Given the description of an element on the screen output the (x, y) to click on. 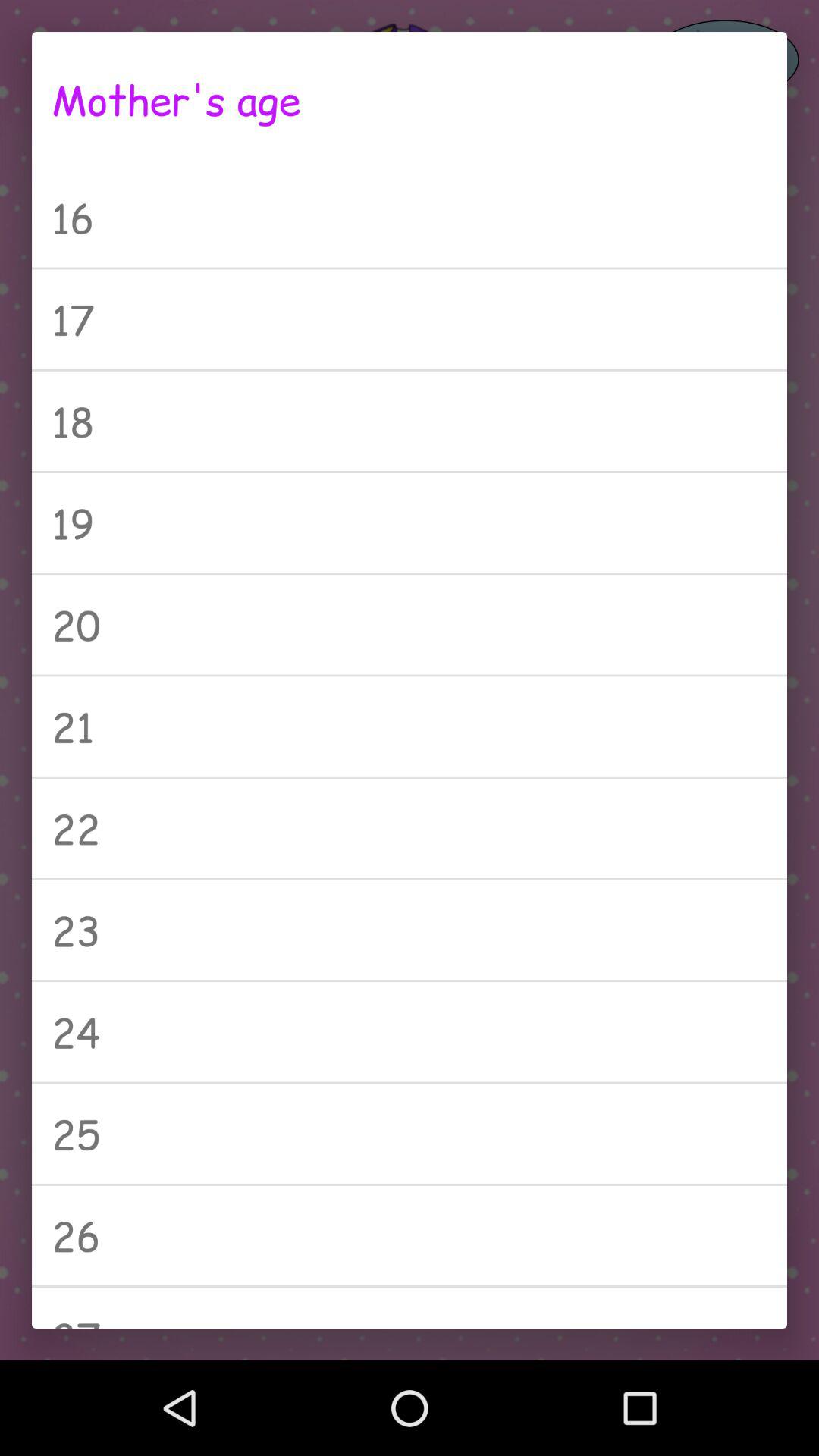
launch the icon above 25 icon (409, 1031)
